Given the description of an element on the screen output the (x, y) to click on. 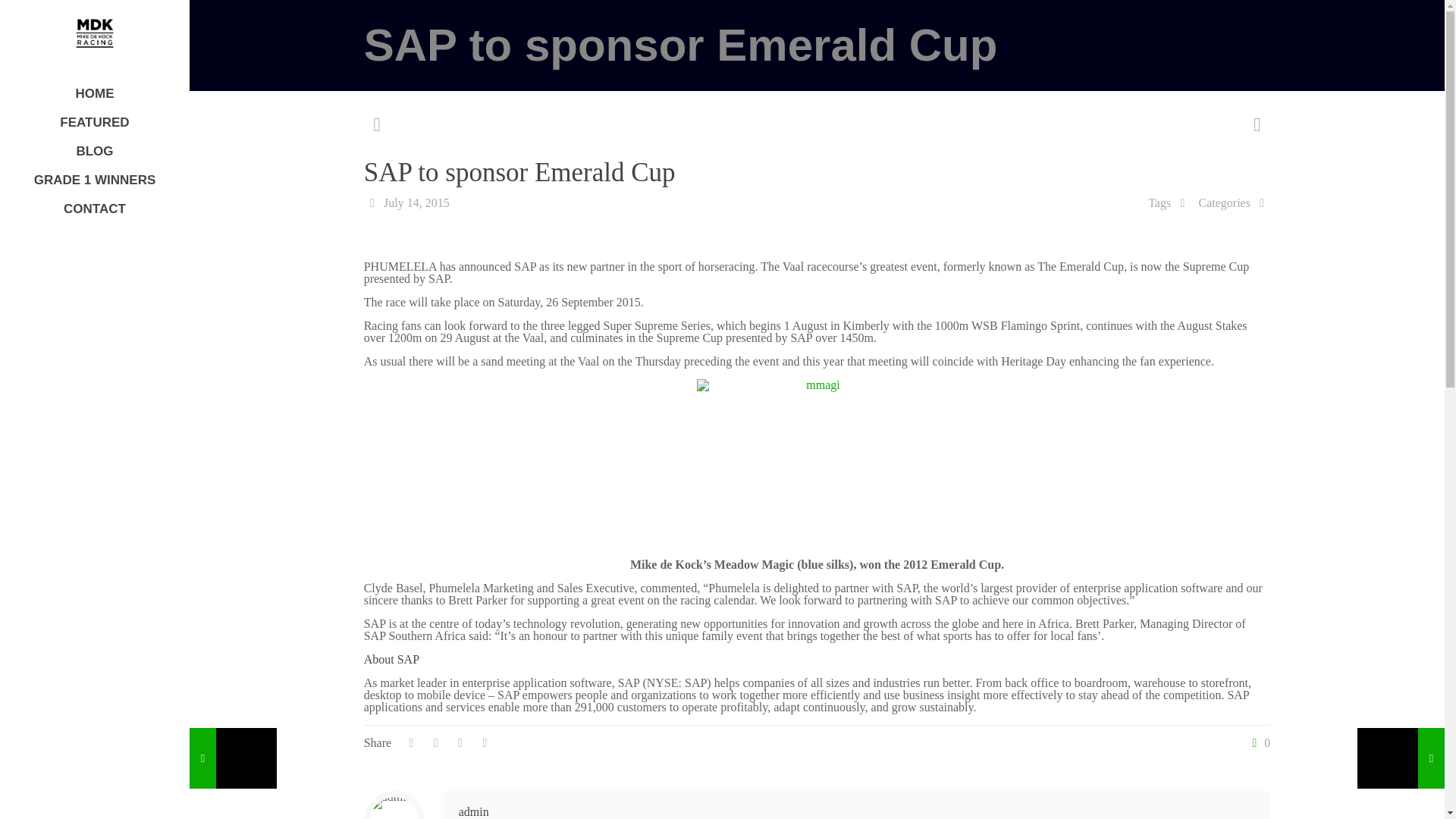
0 (1257, 743)
FEATURED (94, 122)
HOME (94, 93)
CONTACT (94, 208)
BLOG (94, 151)
GRADE 1 WINNERS (94, 180)
Twitter (93, 798)
admin (473, 811)
Mike de Kock Racing (94, 33)
